Given the description of an element on the screen output the (x, y) to click on. 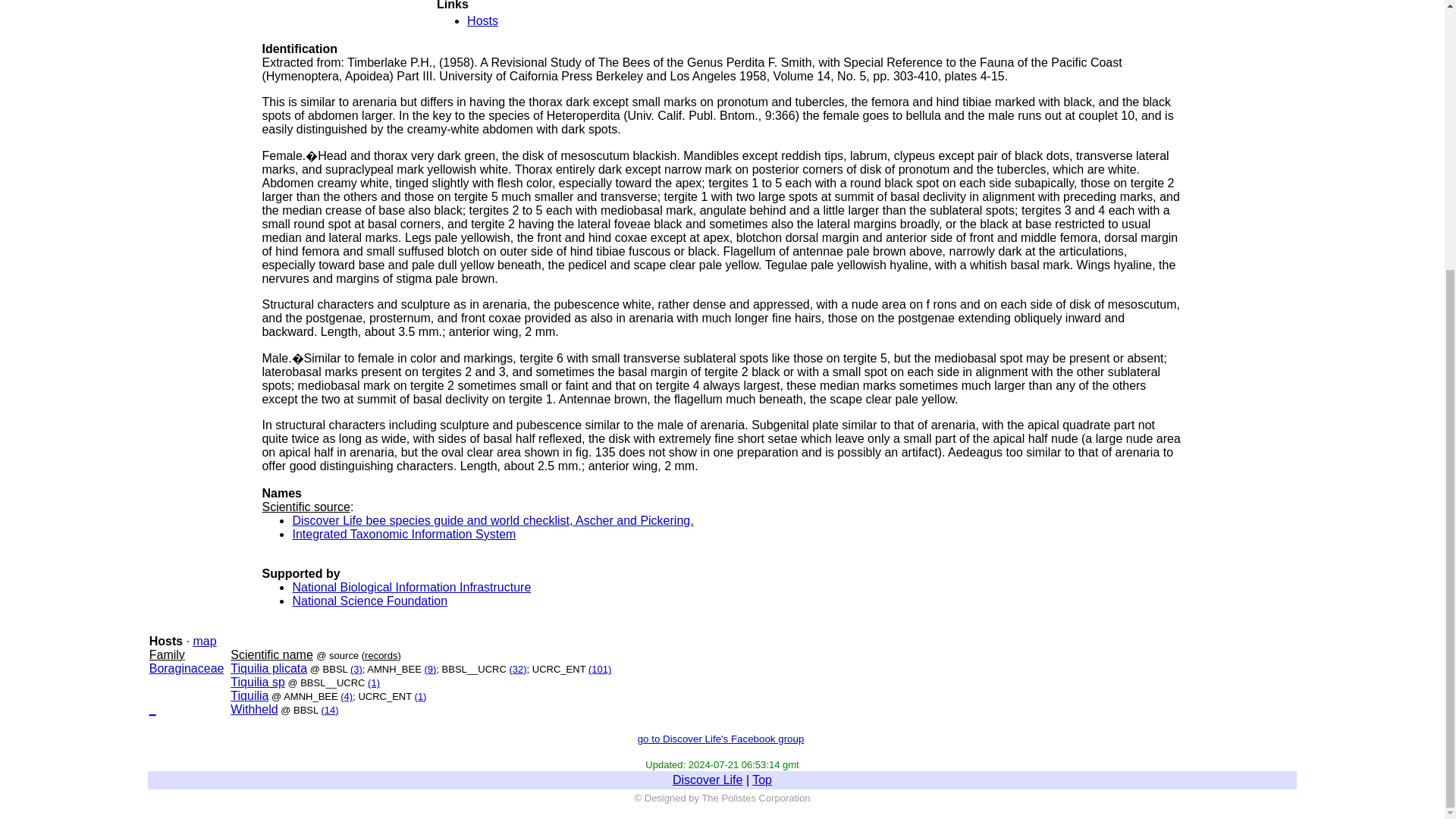
Integrated Taxonomic Information System (403, 533)
National Science Foundation (369, 600)
National Biological Information Infrastructure (411, 586)
Boraginaceae (186, 667)
map (203, 640)
Identification (299, 48)
Names (281, 492)
Hosts (482, 20)
